Given the description of an element on the screen output the (x, y) to click on. 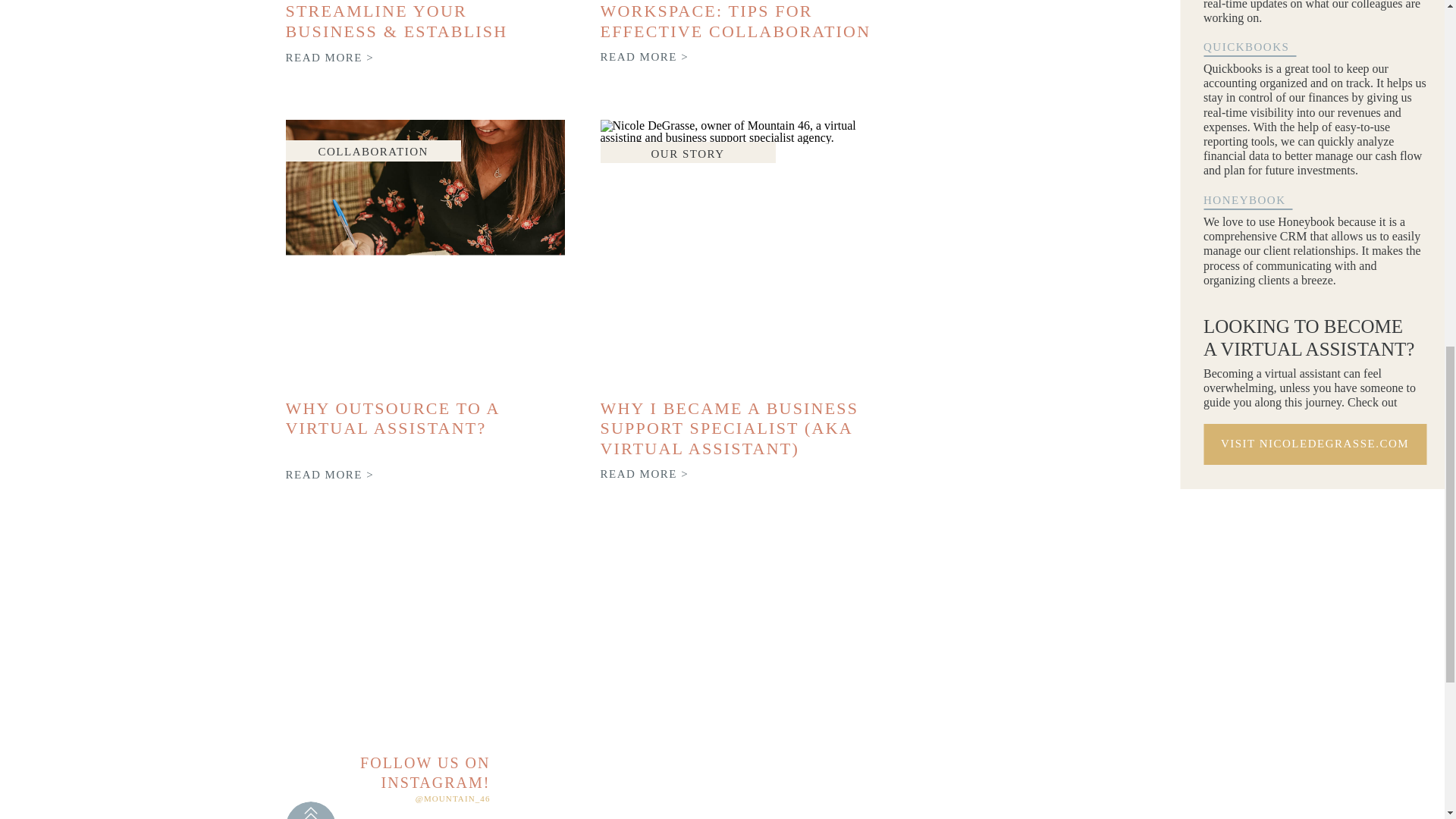
HONEYBOOK (1267, 200)
QUICKBOOKS (1267, 47)
WHY OUTSOURCE TO A VIRTUAL ASSISTANT? (392, 417)
COLLABORATION (373, 151)
Why Outsource to a Virtual Assistant? (424, 253)
OUR STORY (686, 153)
VISIT NICOLEDEGRASSE.COM (1315, 444)
Why Outsource to a Virtual Assistant? (330, 475)
